Given the description of an element on the screen output the (x, y) to click on. 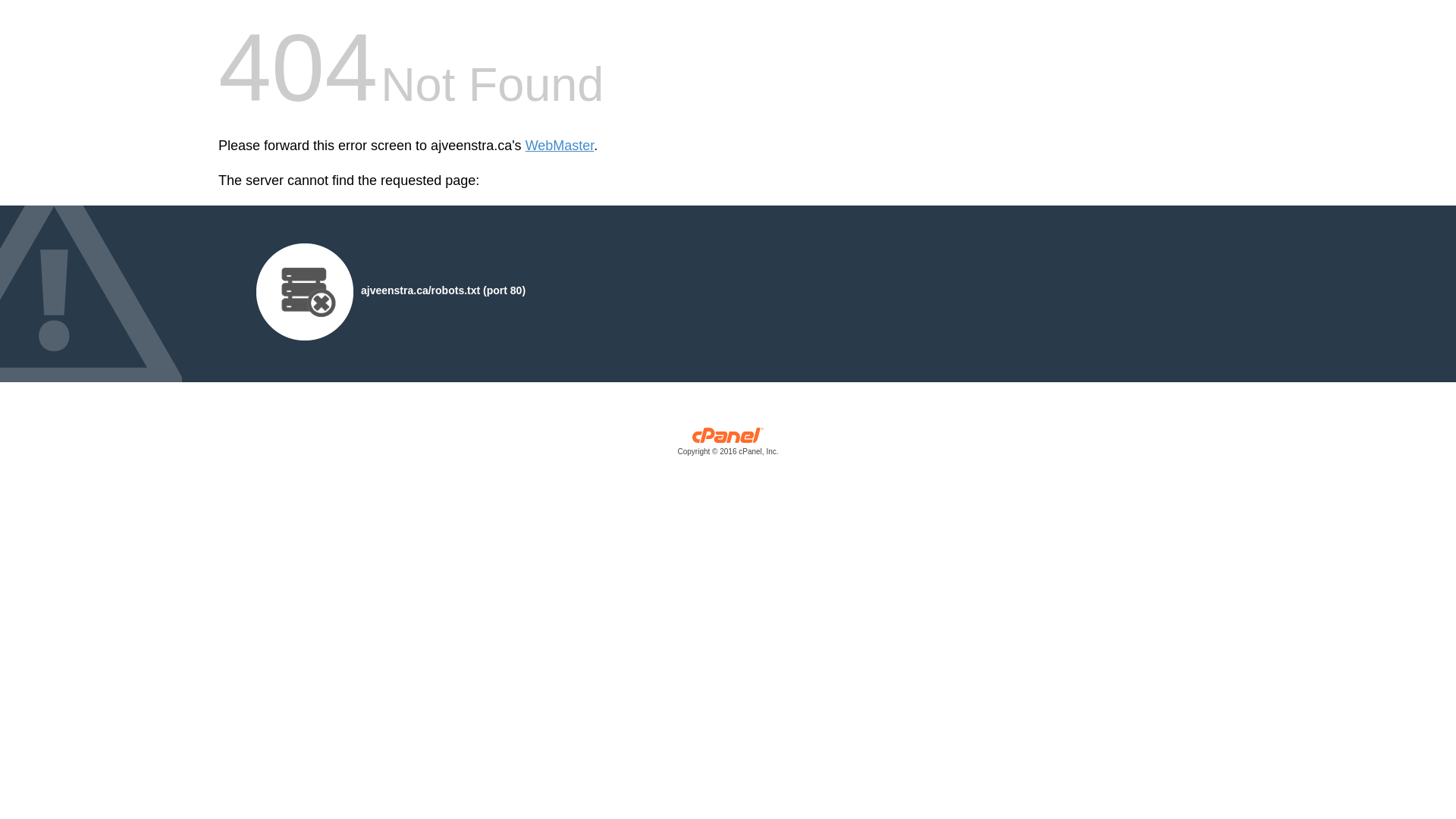
WebMaster Element type: text (559, 145)
